Given the description of an element on the screen output the (x, y) to click on. 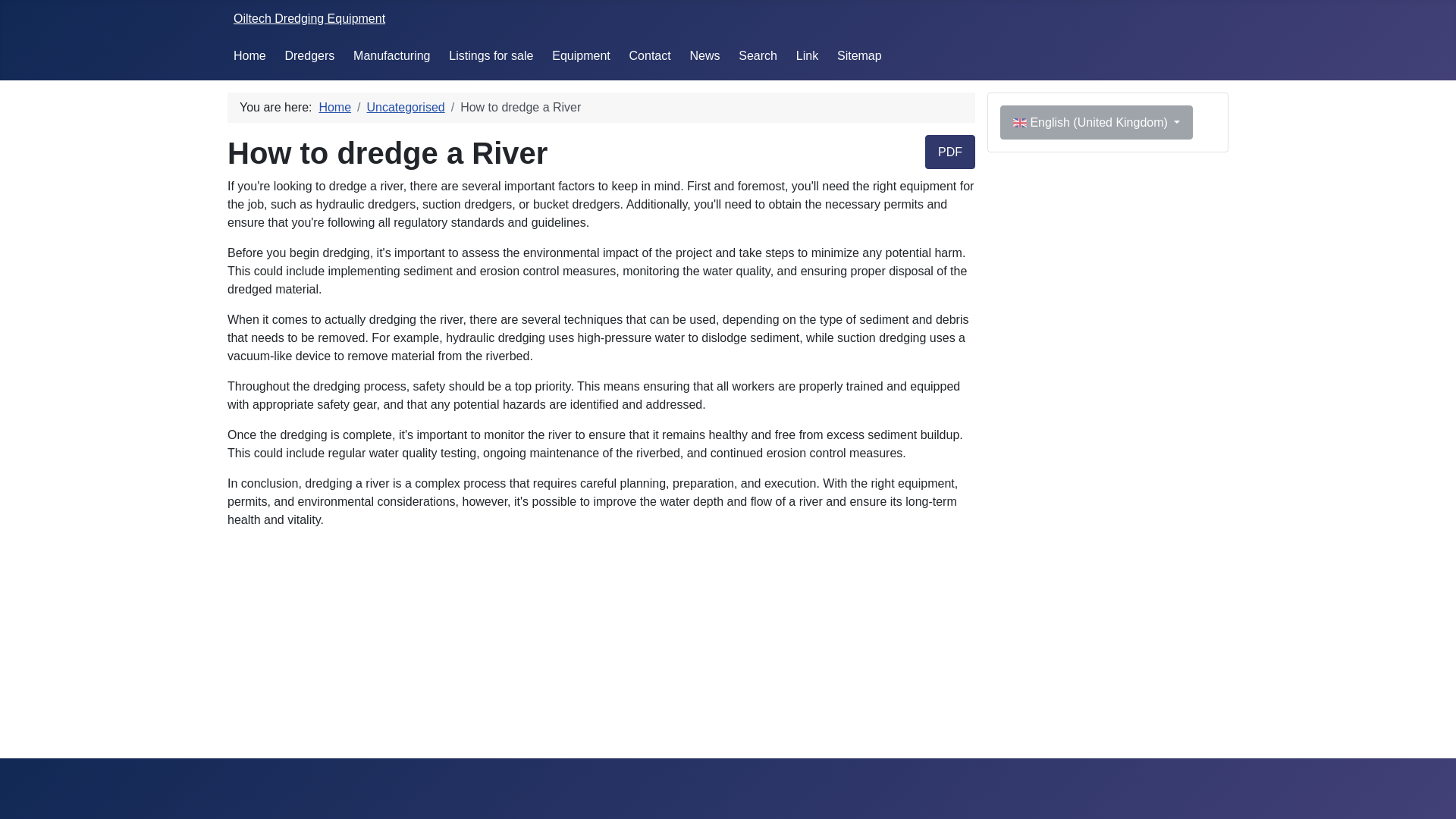
Uncategorised (405, 106)
Oiltech Dredging Equipment (308, 18)
Everything you want to know about dredging and services (807, 55)
Listings for sale (490, 55)
Oiltech Dredging Equipment (308, 18)
News (703, 55)
The Latest News of Oiltech Dredging Equipment  (703, 55)
Contact details (649, 55)
Link (807, 55)
